Given the description of an element on the screen output the (x, y) to click on. 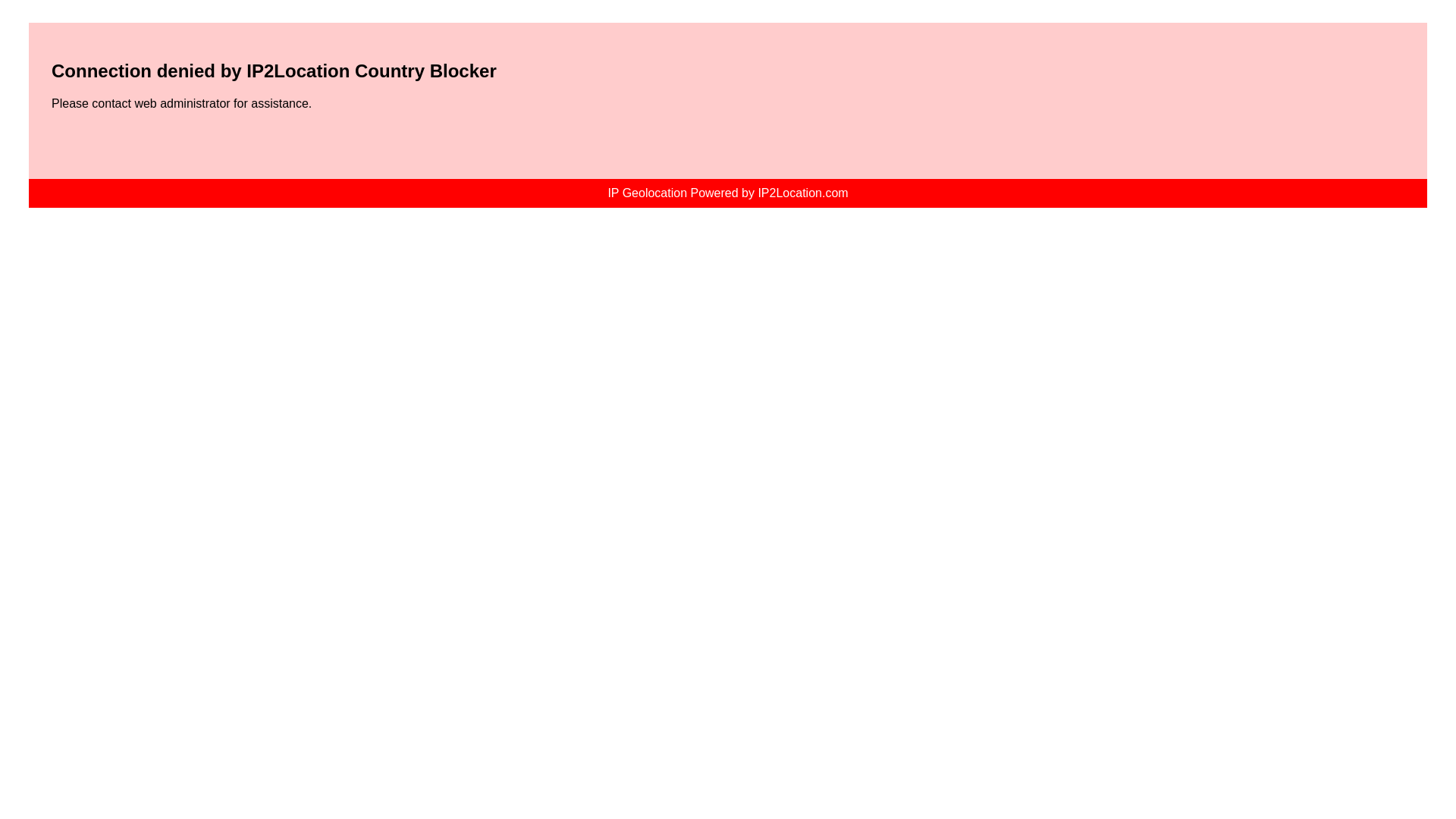
IP Geolocation Powered by IP2Location.com Element type: text (727, 192)
